Given the description of an element on the screen output the (x, y) to click on. 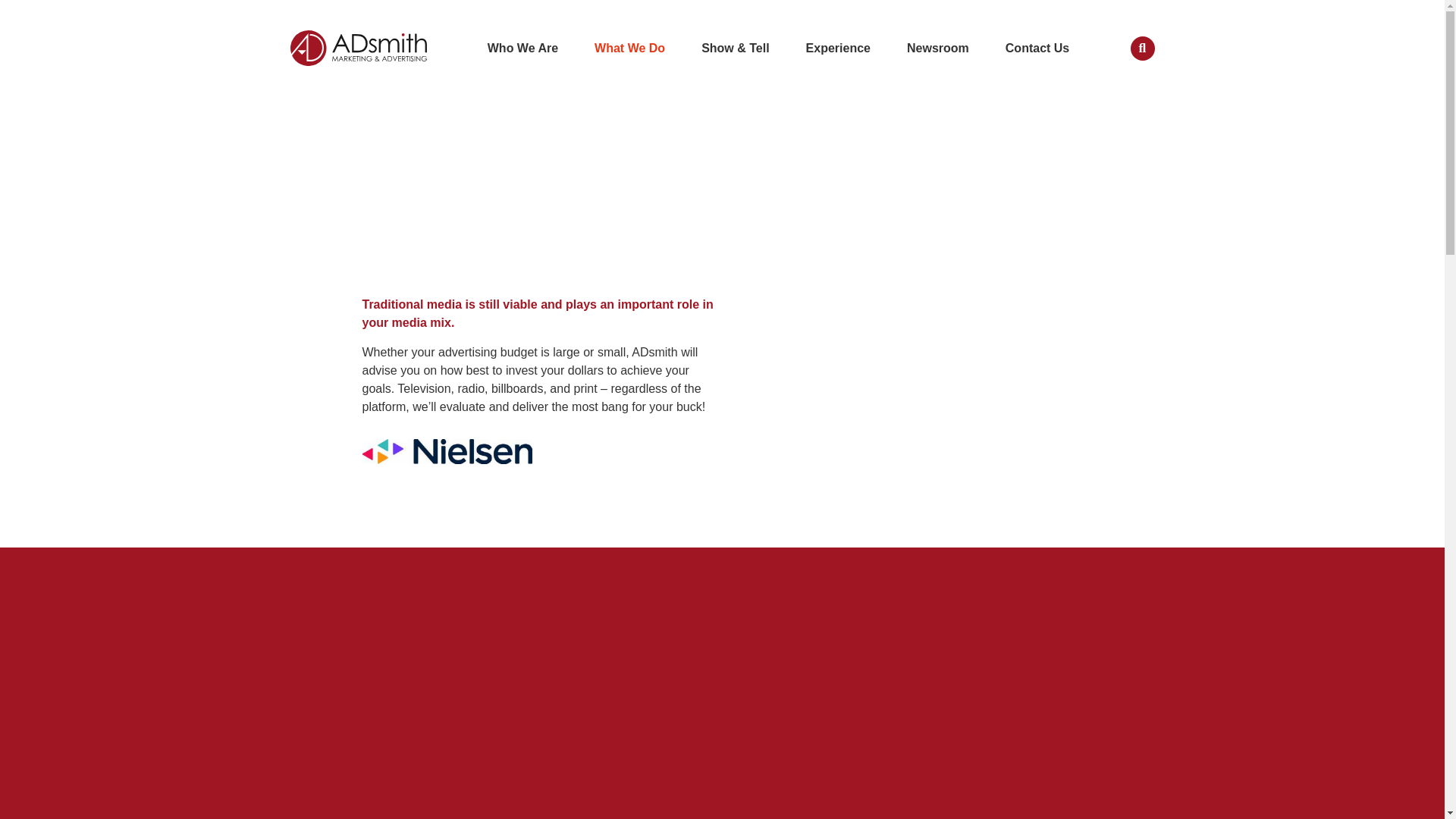
What We Do (629, 48)
Contact Us (1037, 48)
Newsroom (937, 48)
Who We Are (522, 48)
Experience (837, 48)
